Given the description of an element on the screen output the (x, y) to click on. 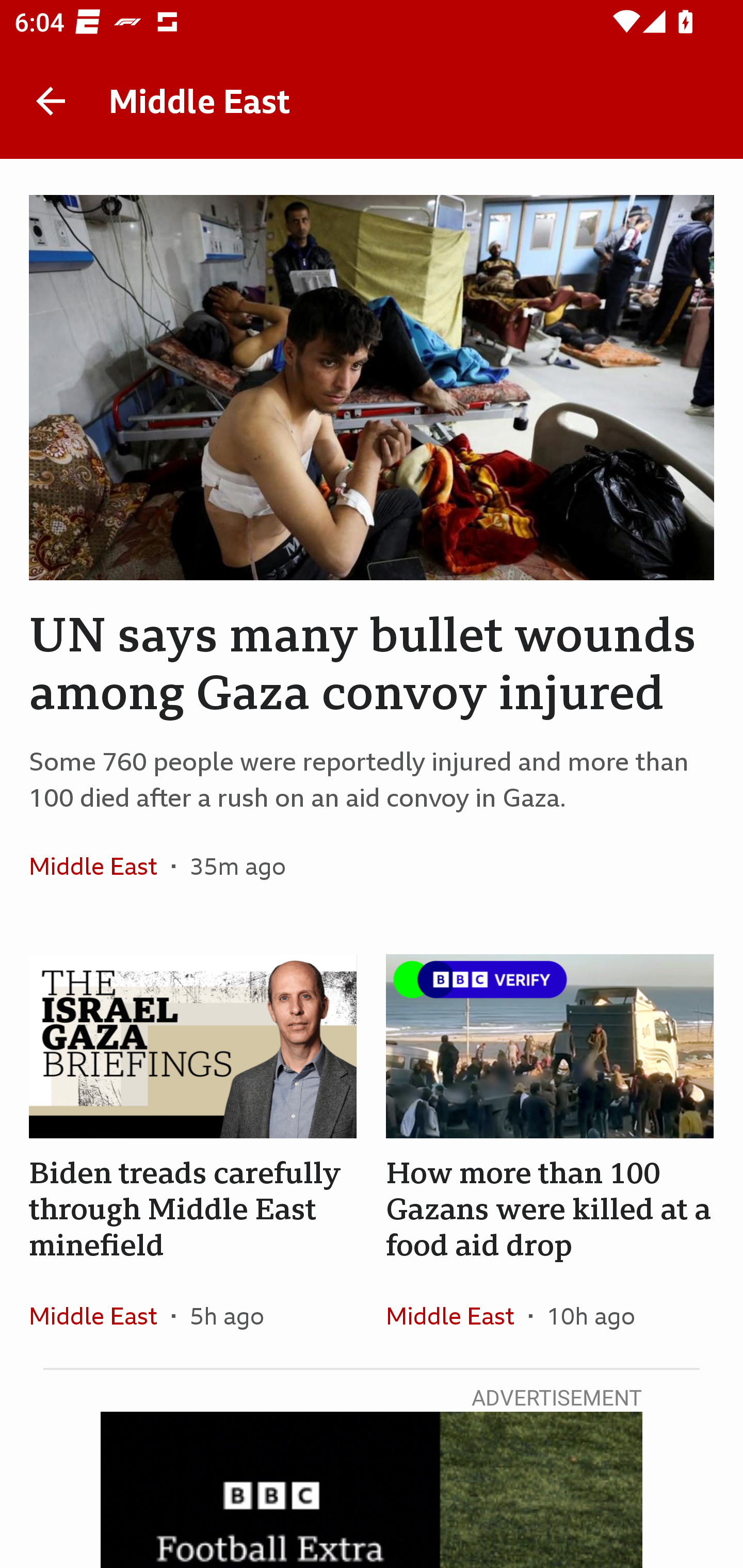
Back (50, 101)
Middle East In the section Middle East (99, 865)
Middle East In the section Middle East (99, 1315)
Middle East In the section Middle East (457, 1315)
